Given the description of an element on the screen output the (x, y) to click on. 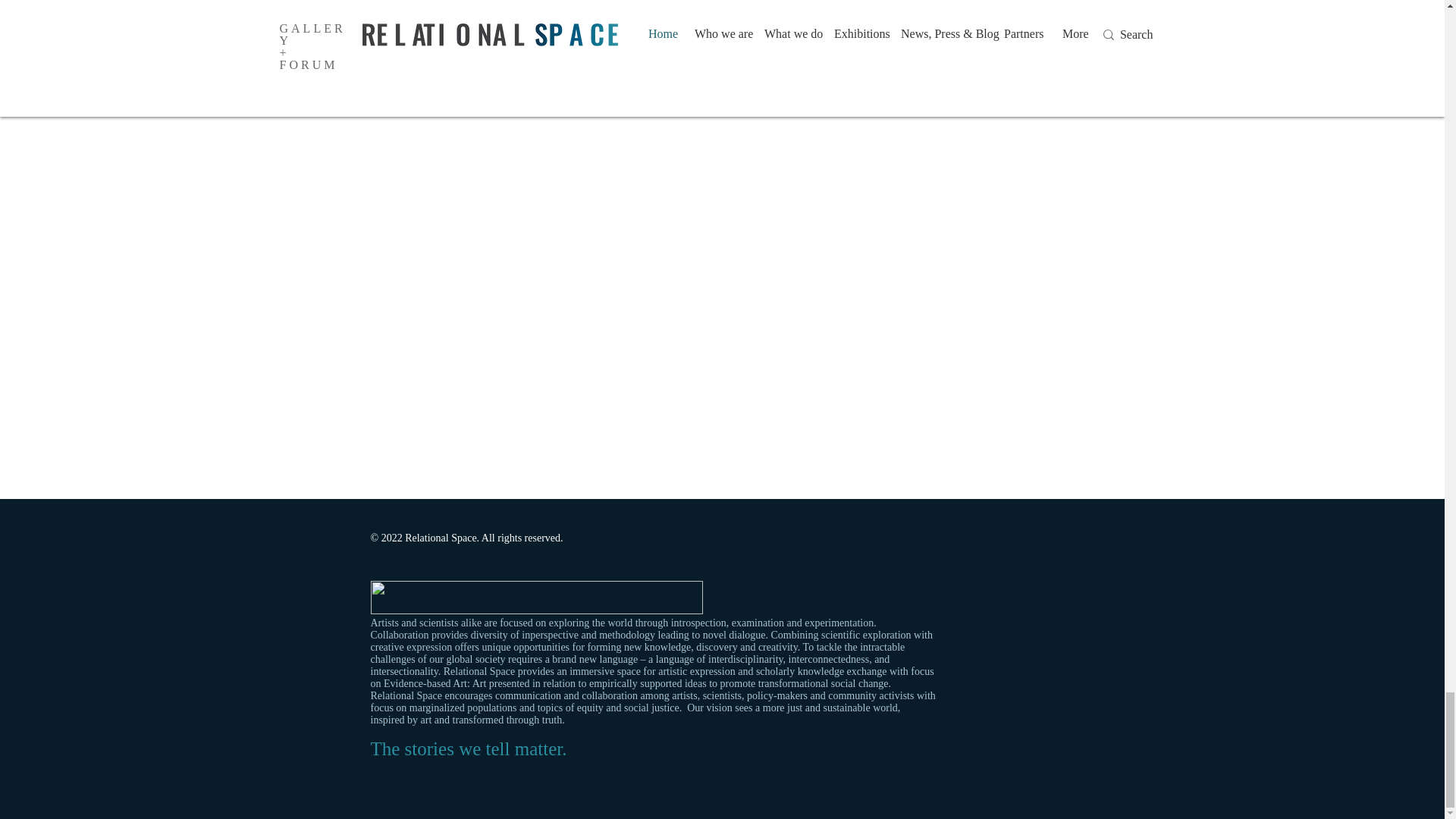
RS-W-RGB3.png (535, 597)
